Given the description of an element on the screen output the (x, y) to click on. 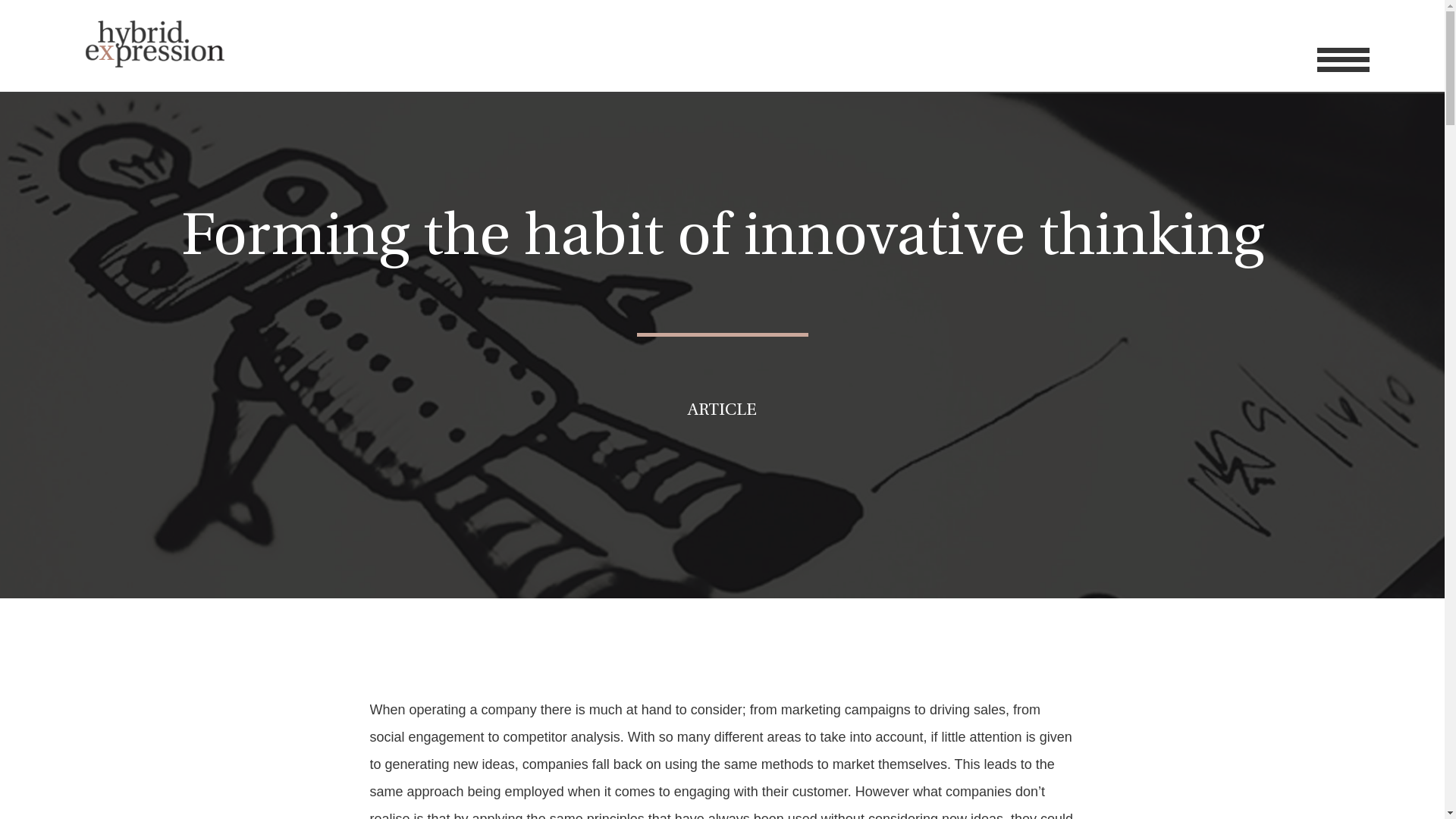
line
line
line Element type: text (1343, 59)
